Given the description of an element on the screen output the (x, y) to click on. 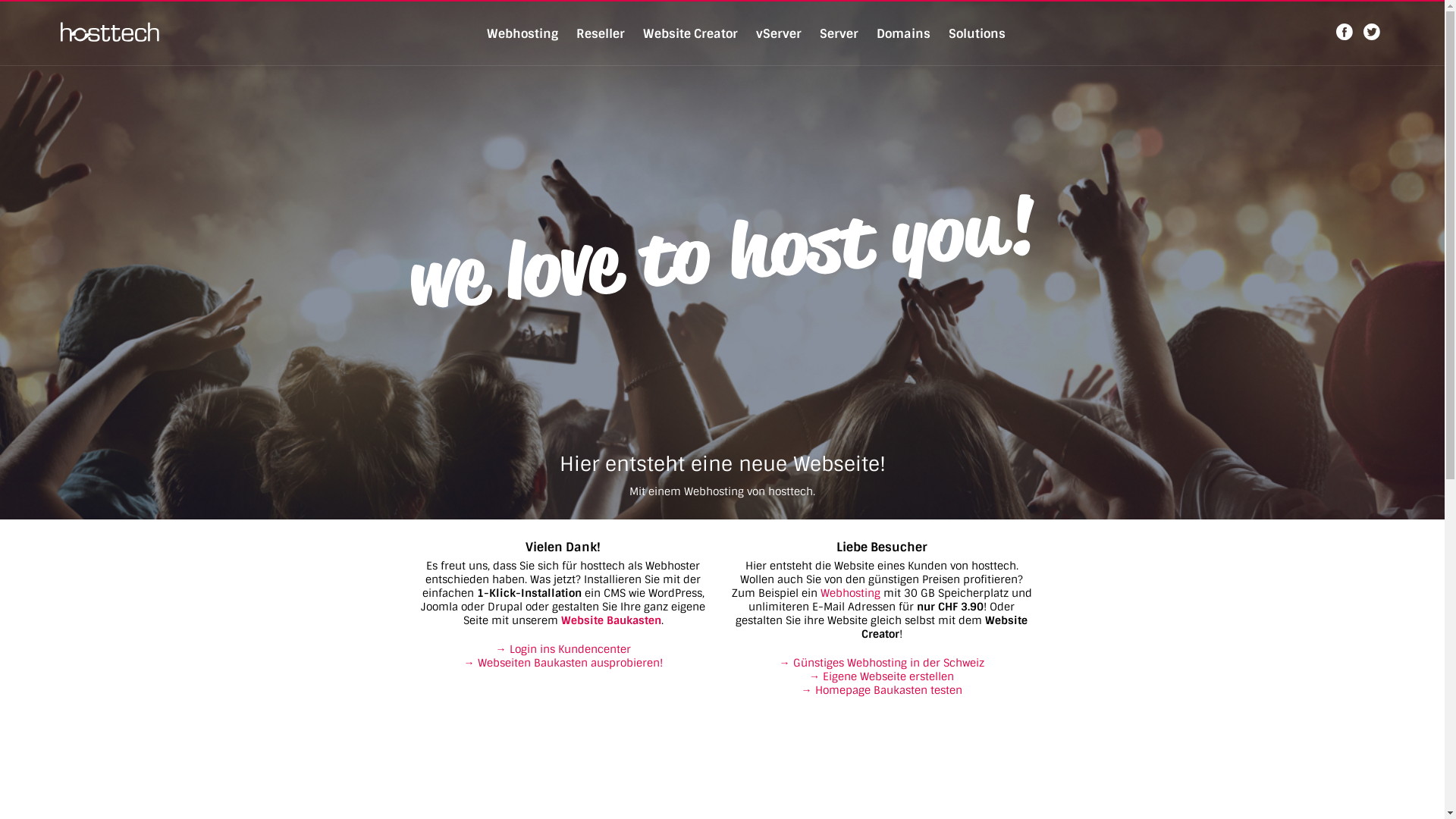
vServer Element type: text (777, 33)
Domains Element type: text (903, 33)
Solutions Element type: text (975, 33)
Server Element type: text (838, 33)
Webhosting Element type: text (850, 592)
Reseller Element type: text (600, 33)
Website Baukasten Element type: text (611, 620)
Website Creator Element type: text (690, 33)
Webhosting Element type: text (522, 33)
